Given the description of an element on the screen output the (x, y) to click on. 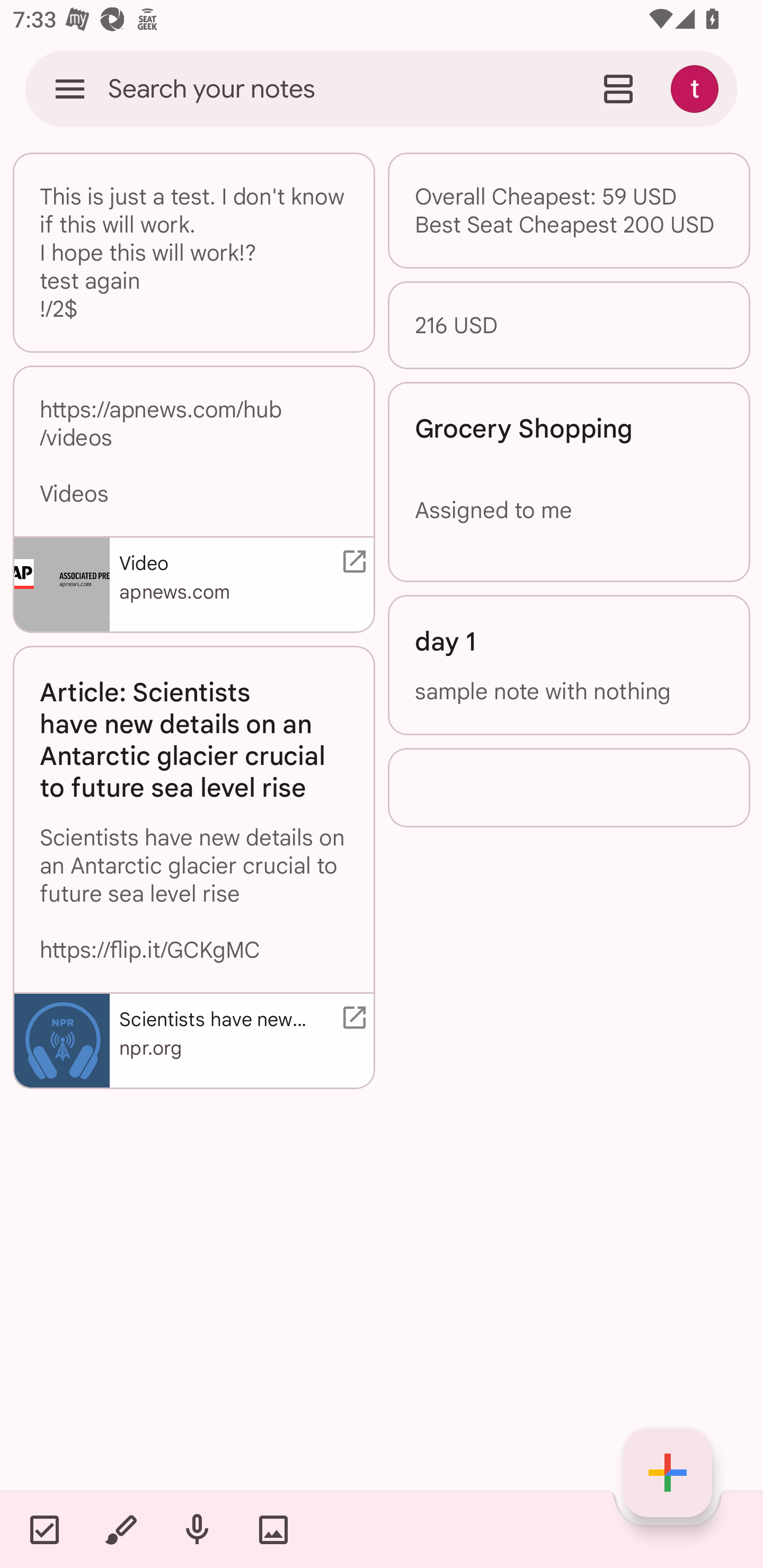
Open navigation drawer (70, 88)
Single-column view (617, 88)
Account and settings. (696, 88)
216 USD.  216 USD (568, 324)
Link preview popout (350, 561)
.  (568, 787)
Link preview popout (350, 1017)
New text note (667, 1472)
New list (44, 1529)
New drawing note (120, 1529)
New audio note (196, 1529)
New photo note (273, 1529)
